Given the description of an element on the screen output the (x, y) to click on. 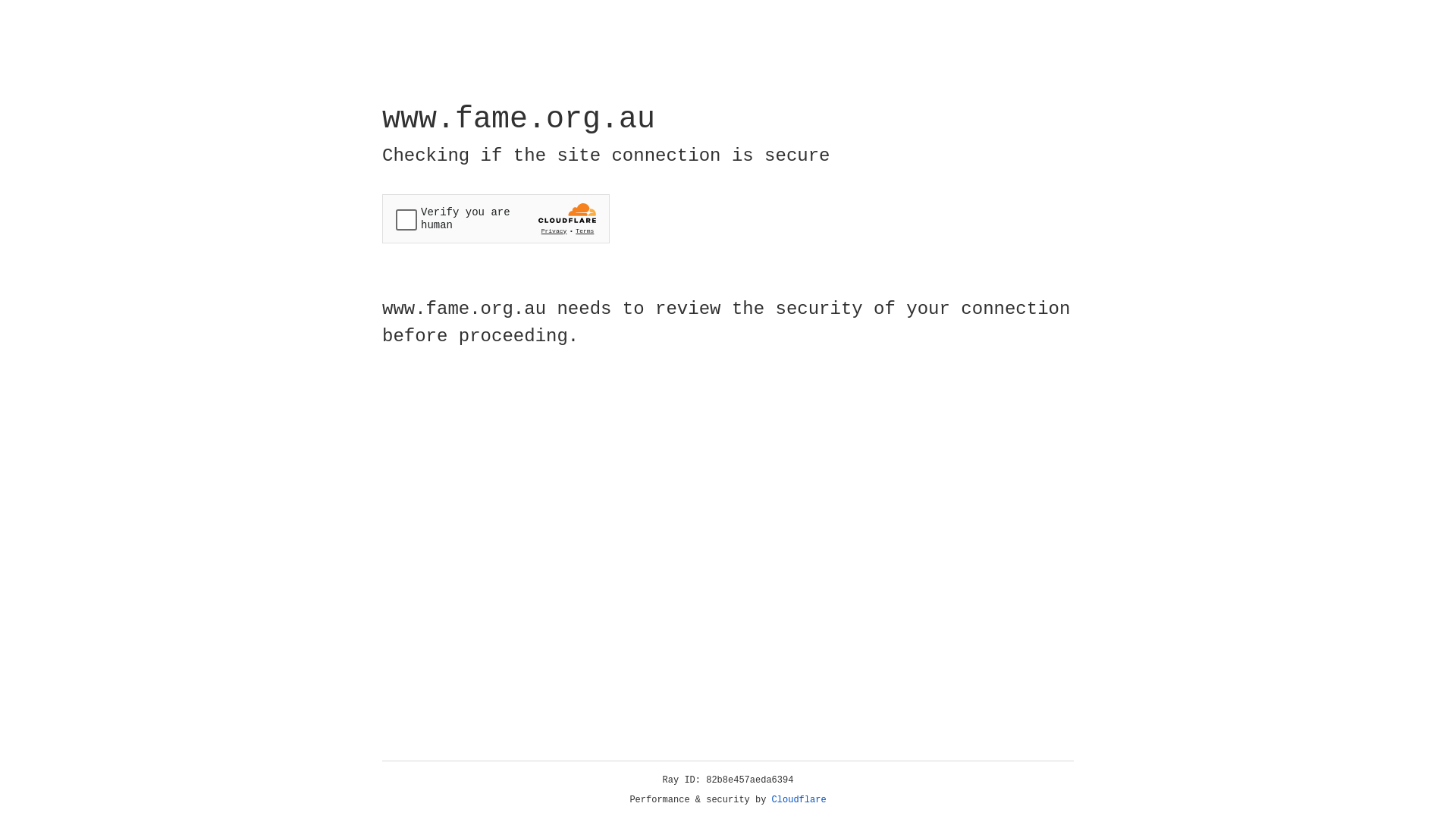
Cloudflare Element type: text (798, 799)
Widget containing a Cloudflare security challenge Element type: hover (495, 218)
